Given the description of an element on the screen output the (x, y) to click on. 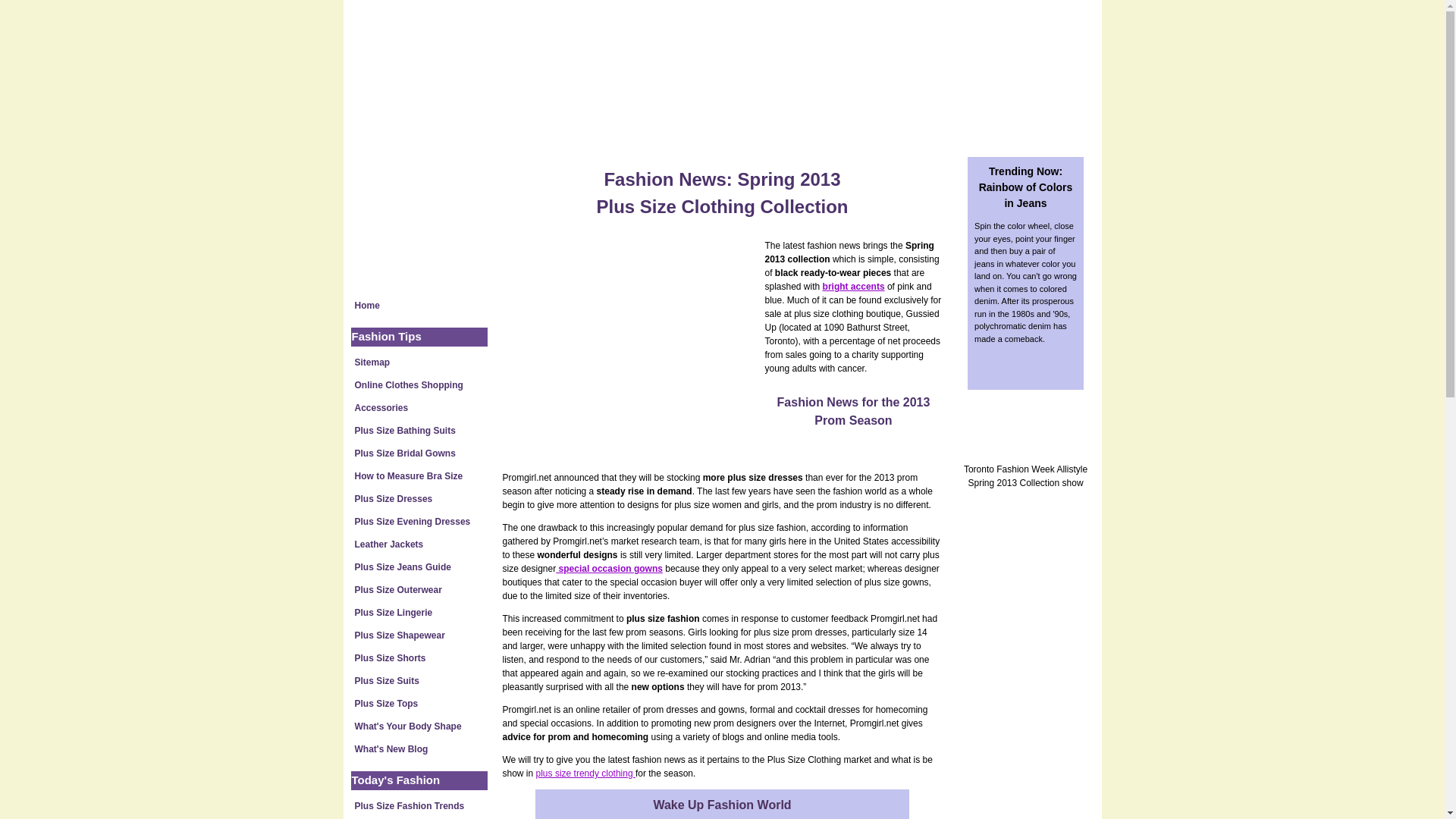
special occasion gowns (609, 568)
Plus Size Suits (418, 680)
Plus Size Jeans Guide (418, 567)
Plus Size Lingerie (418, 612)
What's New Blog (418, 749)
bright accents (853, 286)
Accessories (418, 407)
Plus Size Evening Dresses (418, 521)
Plus Size Tops (418, 703)
plus size trendy clothing (584, 773)
